Given the description of an element on the screen output the (x, y) to click on. 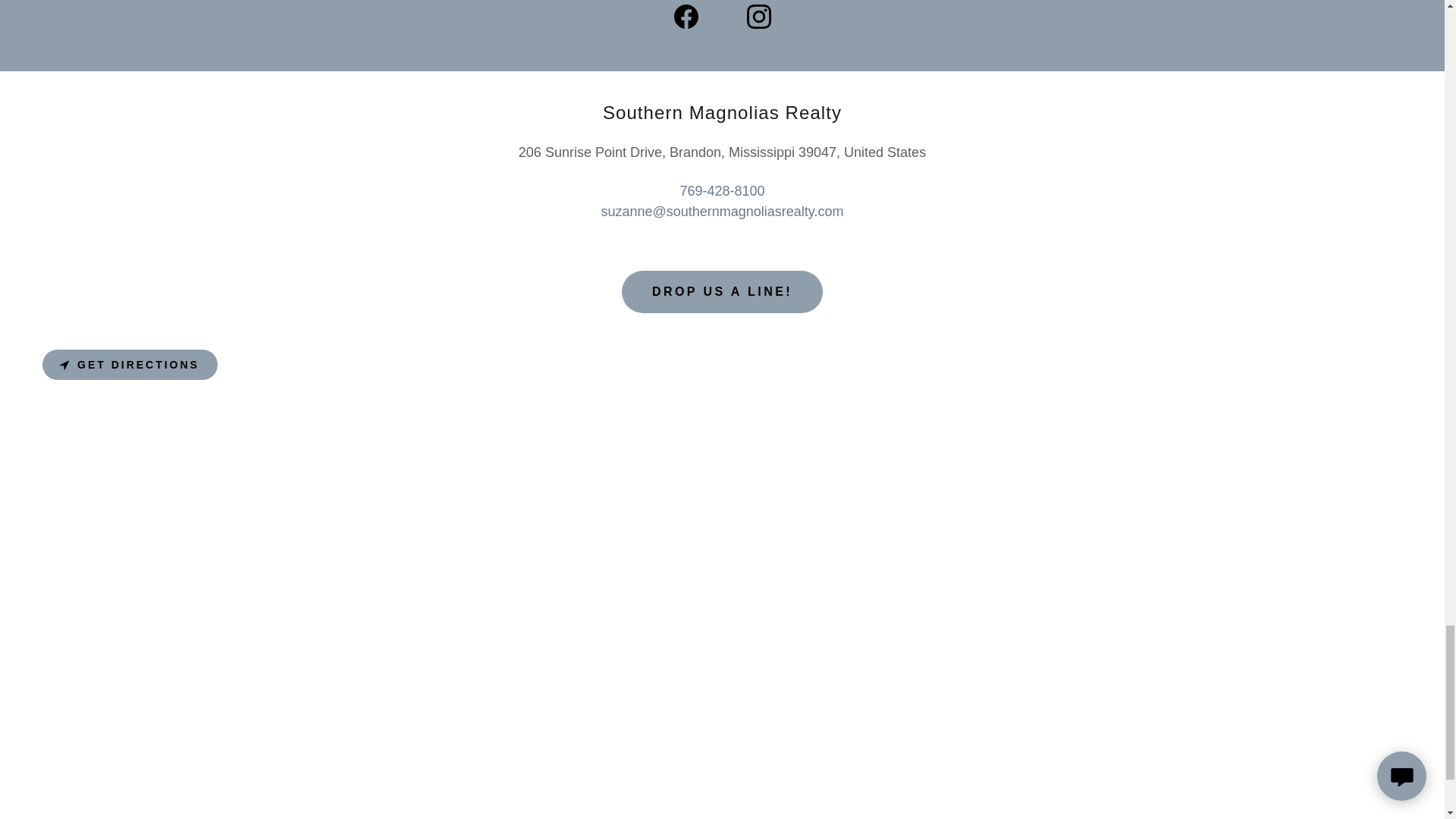
769-428-8100 (721, 191)
DROP US A LINE! (721, 291)
